Given the description of an element on the screen output the (x, y) to click on. 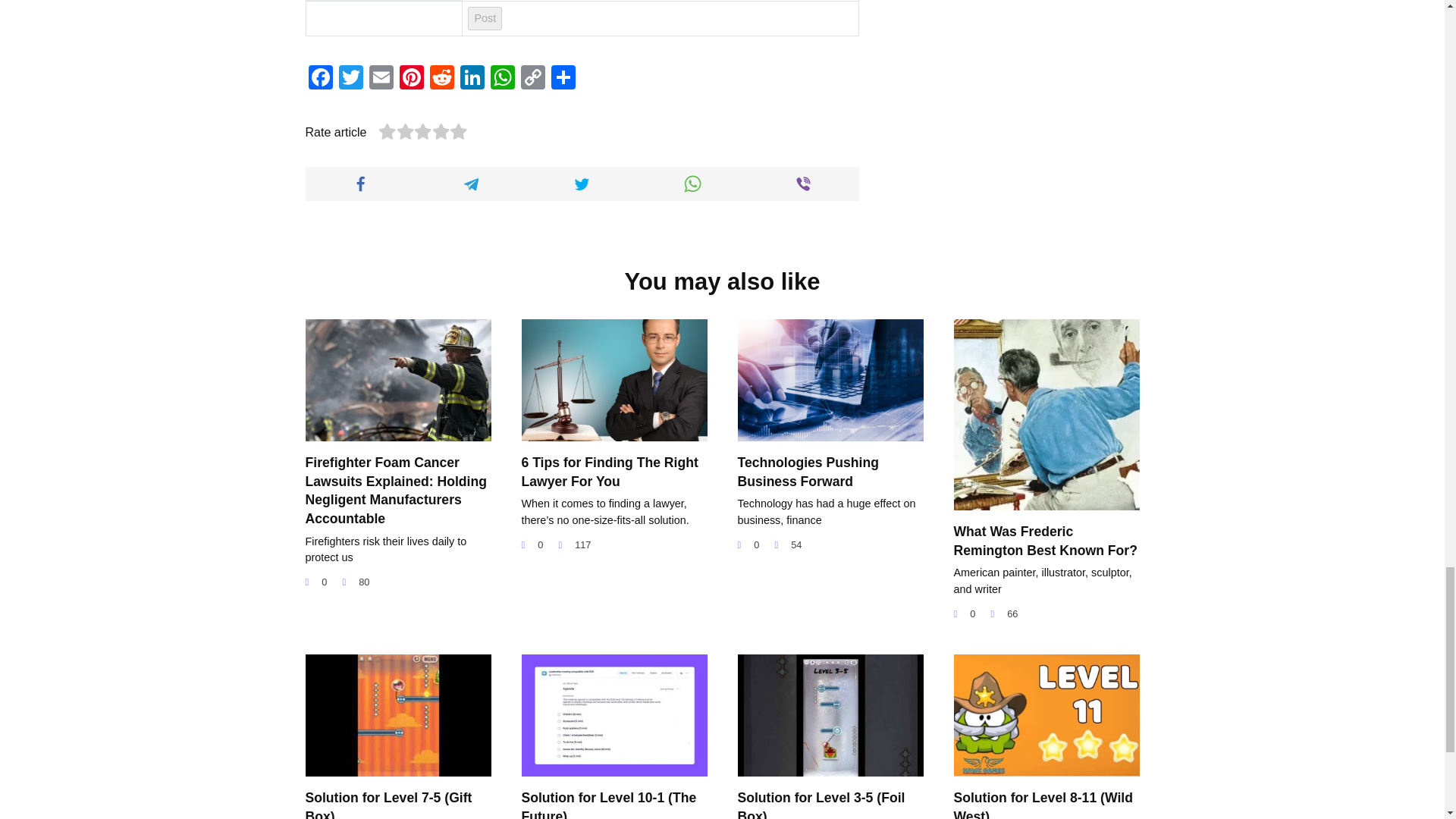
Post (484, 17)
